Given the description of an element on the screen output the (x, y) to click on. 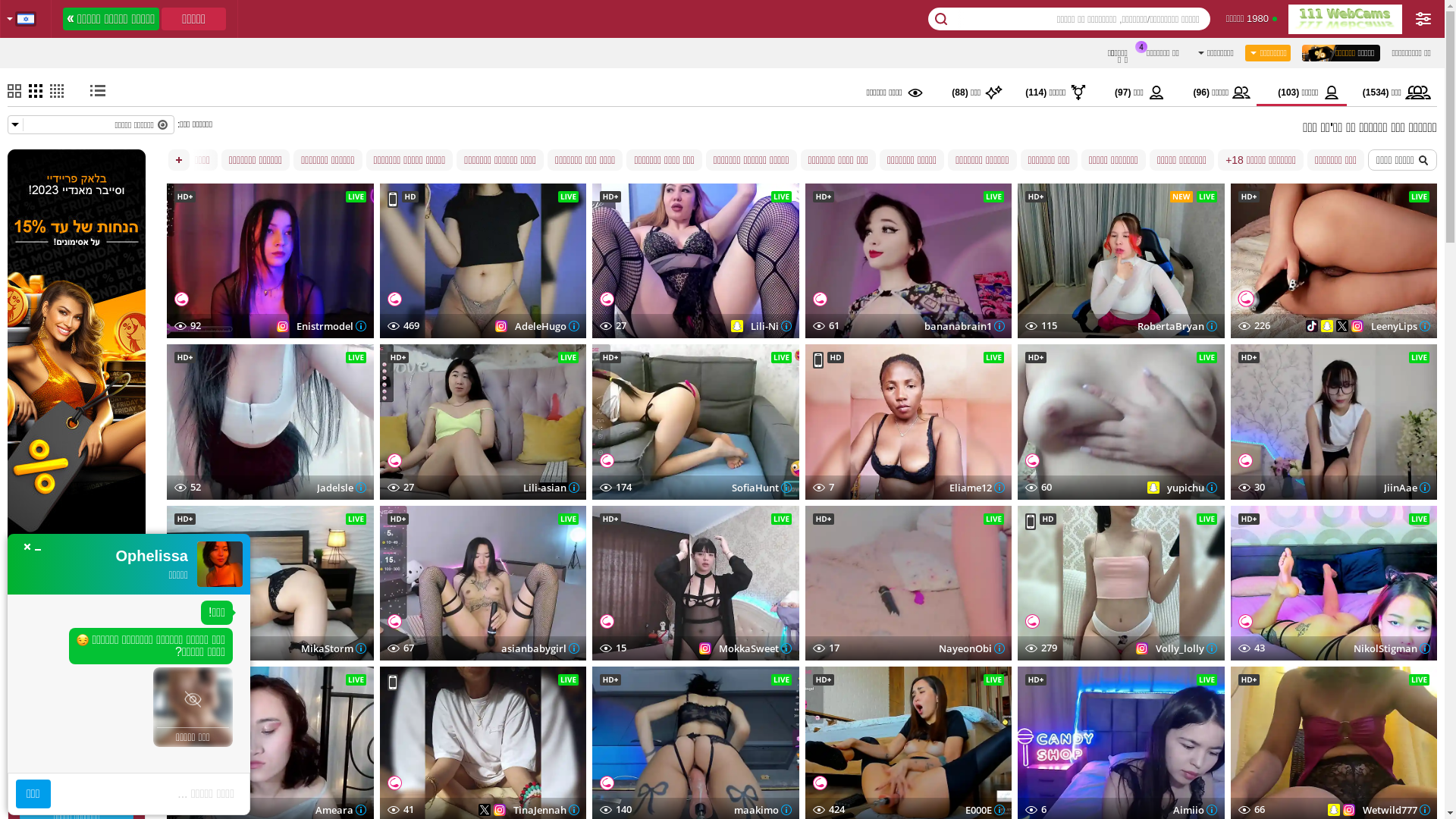
Enistrmodel Element type: text (330, 325)
Lili-asian Element type: text (550, 487)
AdeleHugo Element type: text (546, 325)
Jadelsle Element type: text (341, 487)
Wetwild777 Element type: text (1395, 808)
TinaJennah Element type: text (545, 808)
NayeonObi Element type: text (971, 648)
Eliame12 Element type: text (976, 487)
FurElisse Element type: text (76, 726)
MokkaSweet Element type: text (754, 648)
maakimo Element type: text (762, 808)
Volly_lolly Element type: text (1186, 648)
bananabrain1 Element type: text (963, 325)
Lili-Ni Element type: text (770, 325)
E000E Element type: text (984, 808)
Aimiio Element type: text (1194, 808)
NikolStigman Element type: text (1390, 648)
yupichu Element type: text (1191, 487)
Ameara Element type: text (340, 808)
MikaStorm Element type: text (332, 648)
JiinAae Element type: text (1406, 487)
asianbabygirl Element type: text (539, 648)
LeenyLips Element type: text (1399, 325)
RobertaBryan Element type: text (1177, 325)
SofiaHunt Element type: text (760, 487)
